Given the description of an element on the screen output the (x, y) to click on. 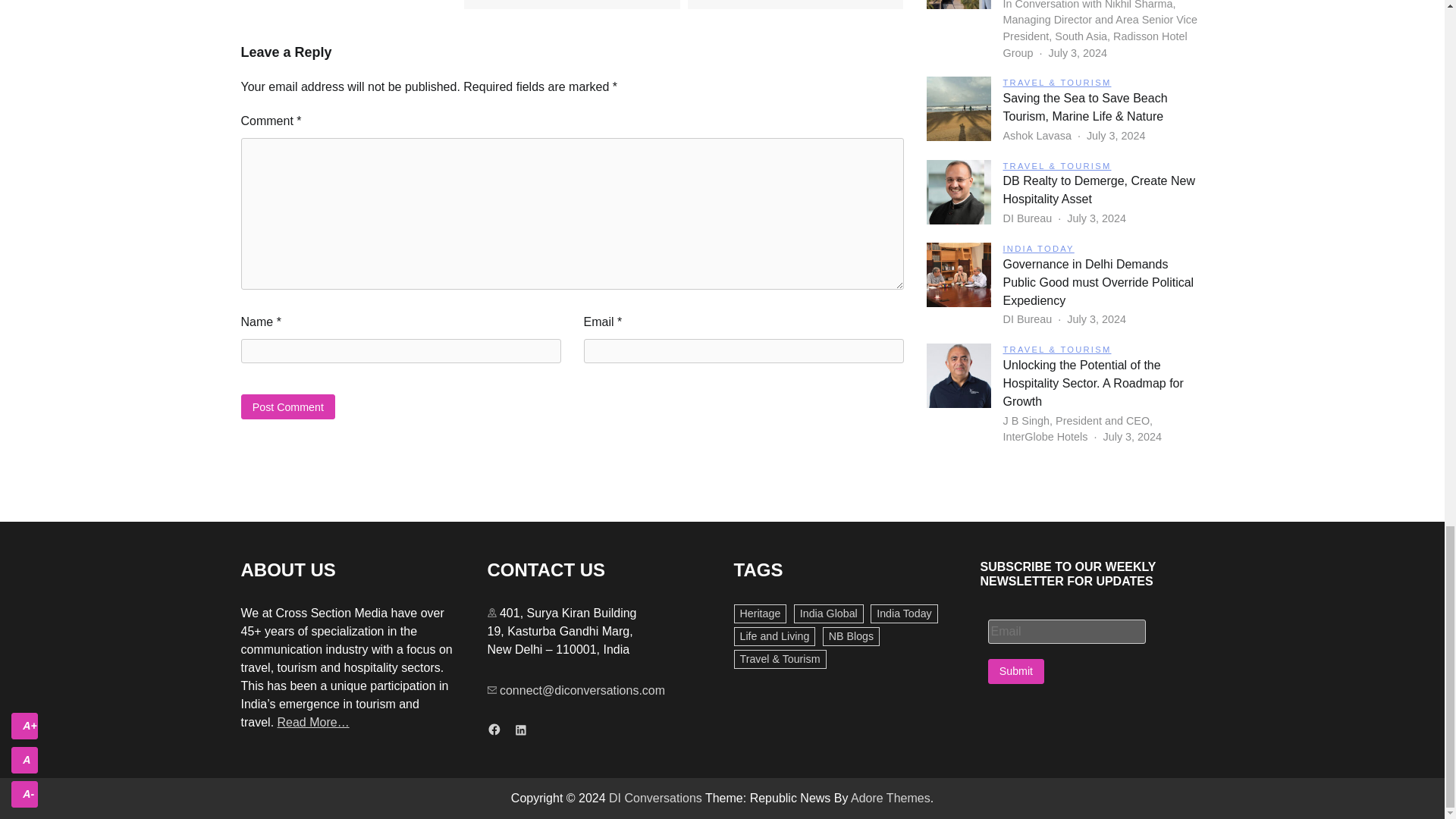
Post Comment (288, 406)
Email (1065, 631)
Post Comment (288, 406)
